Given the description of an element on the screen output the (x, y) to click on. 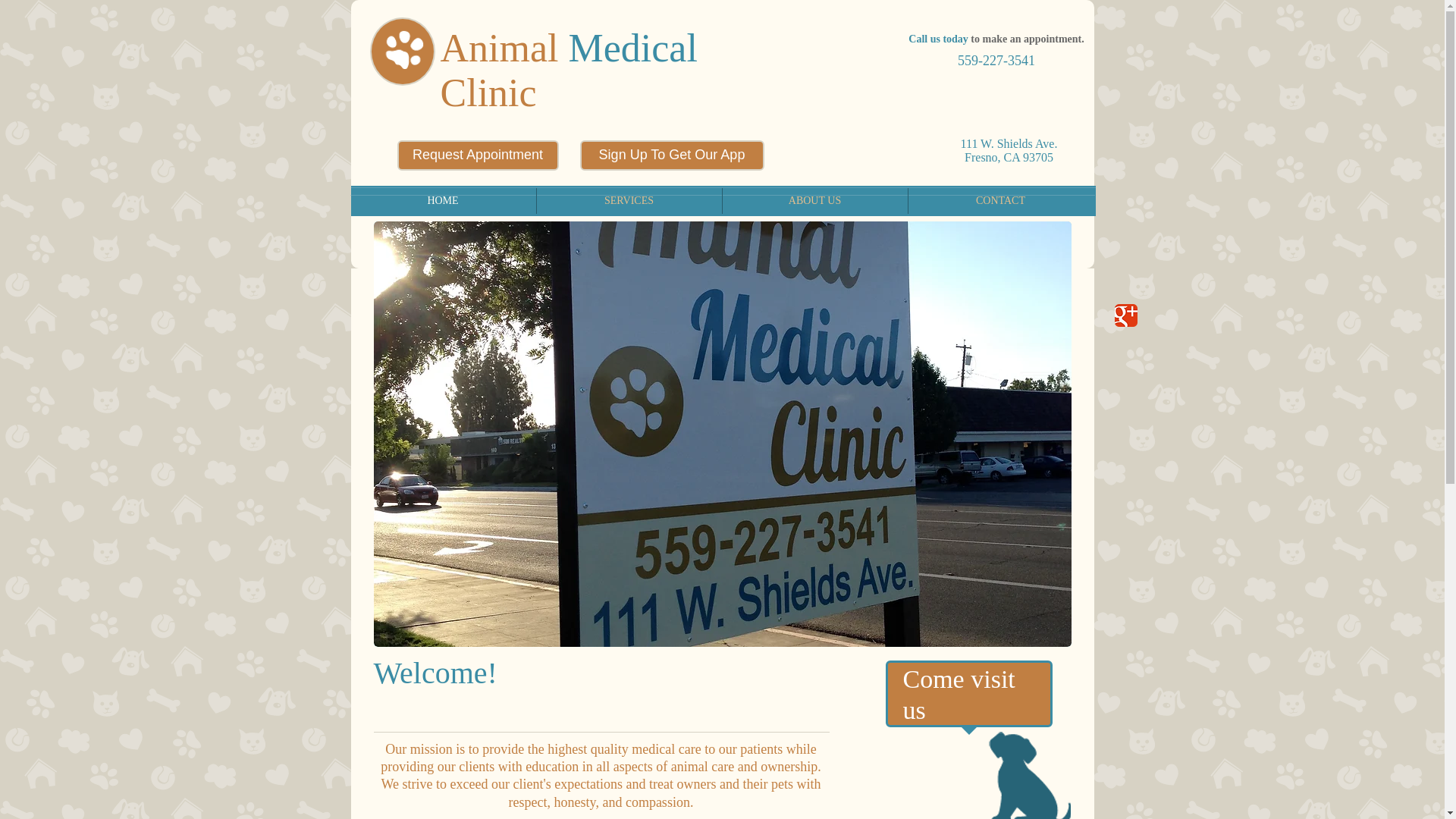
ABOUT US (814, 200)
Sign Up To Get Our App (670, 155)
SERVICES (629, 200)
HOME (442, 200)
Facebook Like (1144, 289)
Request Appointment (478, 155)
CONTACT (1000, 200)
